Given the description of an element on the screen output the (x, y) to click on. 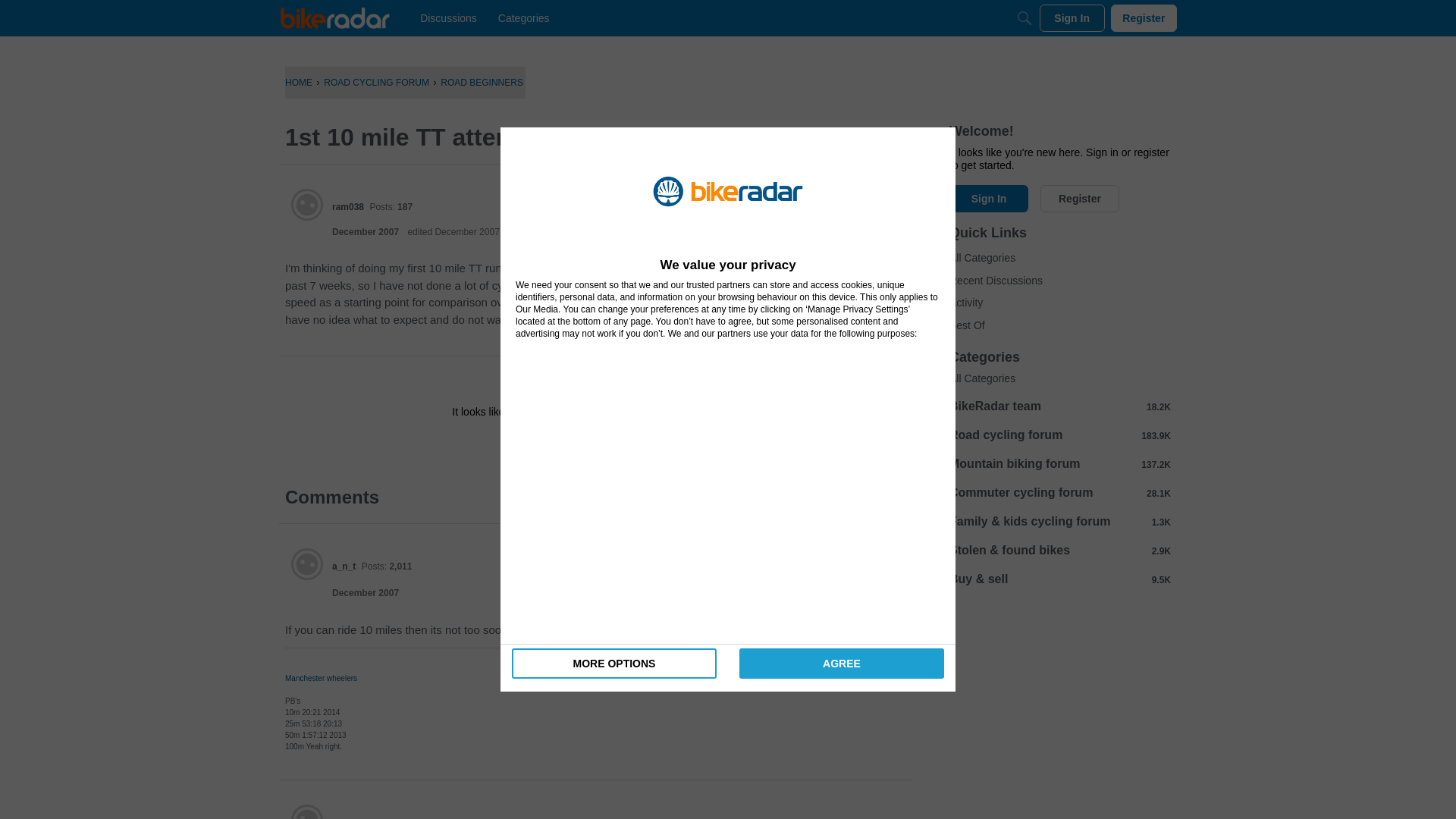
December 2007 (364, 593)
CarlosFerreiro (307, 811)
December 2007 (364, 231)
Categories (524, 17)
Sign In (547, 445)
HOME (299, 81)
ROAD BEGINNERS (481, 81)
ROAD CYCLING FORUM (376, 81)
Manchester wheelers (320, 678)
Sign In (547, 445)
Sign In (1072, 17)
ram038 (307, 204)
CarlosFerreiro (362, 818)
Discussions (448, 17)
Register (638, 445)
